Given the description of an element on the screen output the (x, y) to click on. 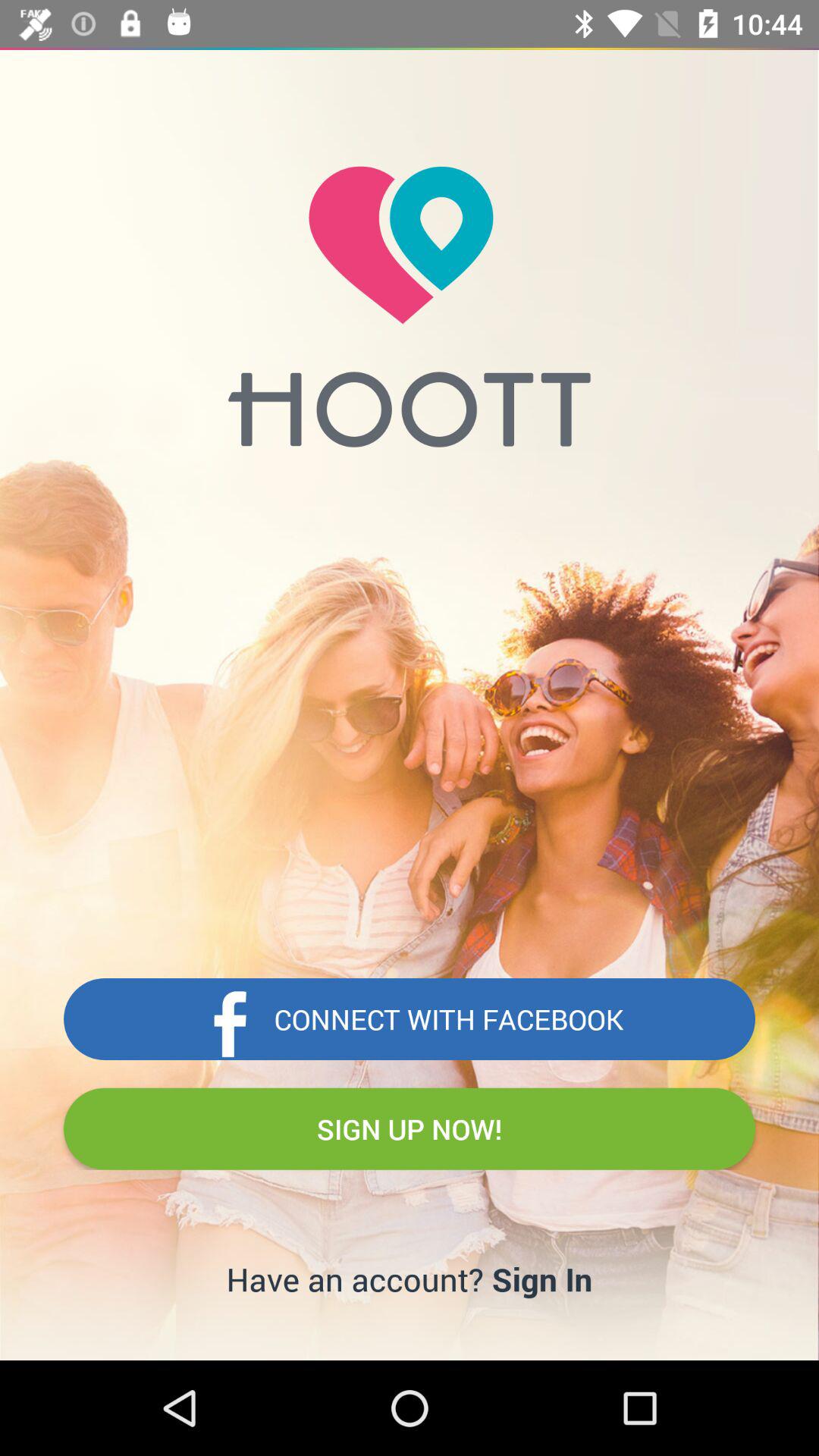
turn off icon to the right of have an account? (541, 1278)
